Given the description of an element on the screen output the (x, y) to click on. 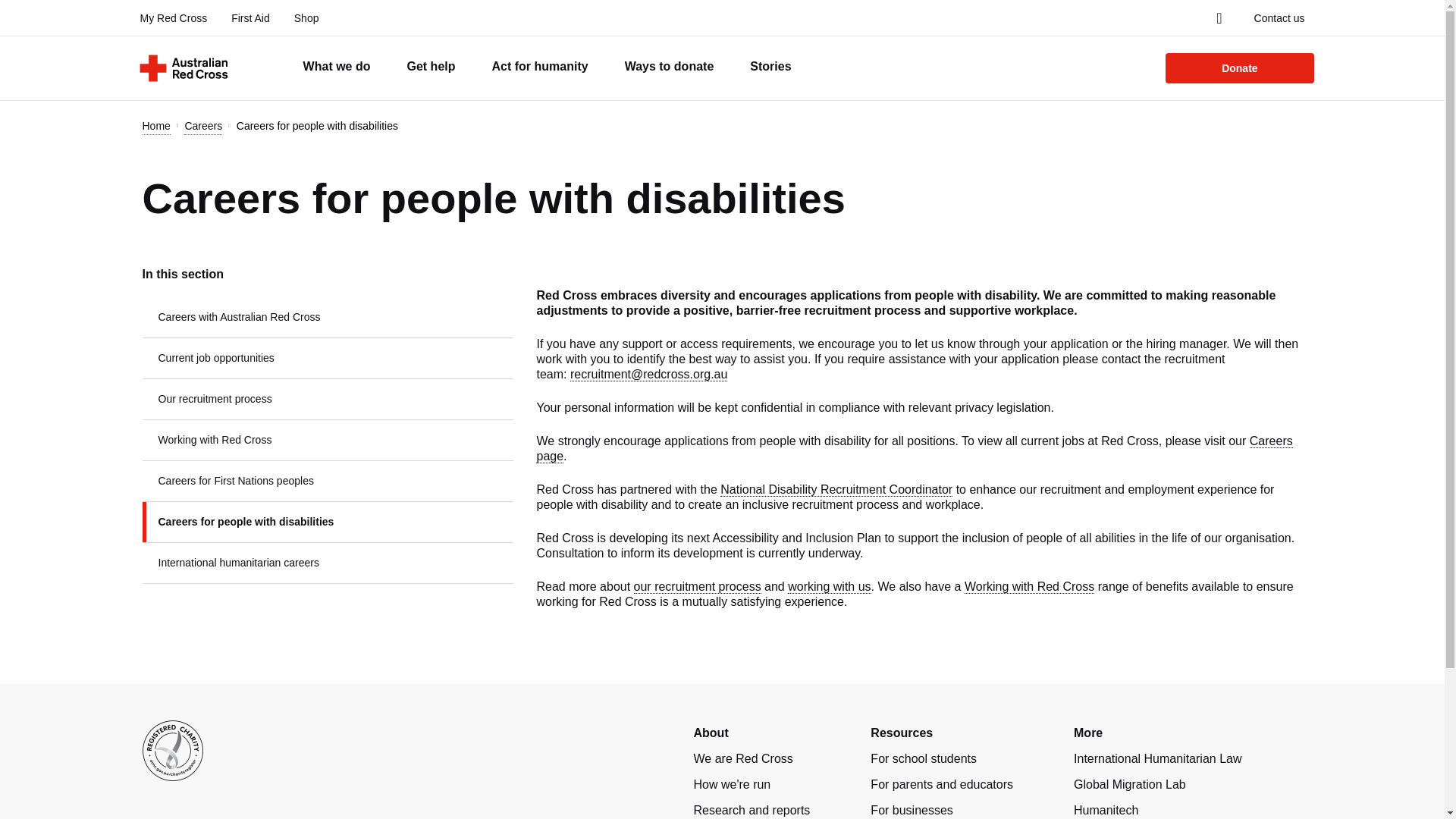
How we're run (731, 784)
For school students (923, 758)
More (1088, 732)
Ways to donate (669, 67)
For businesses (911, 809)
International Humanitarian Law (1157, 758)
My Red Cross (173, 18)
What we do (336, 67)
We are Red Cross (742, 758)
Act for humanity (540, 67)
